Given the description of an element on the screen output the (x, y) to click on. 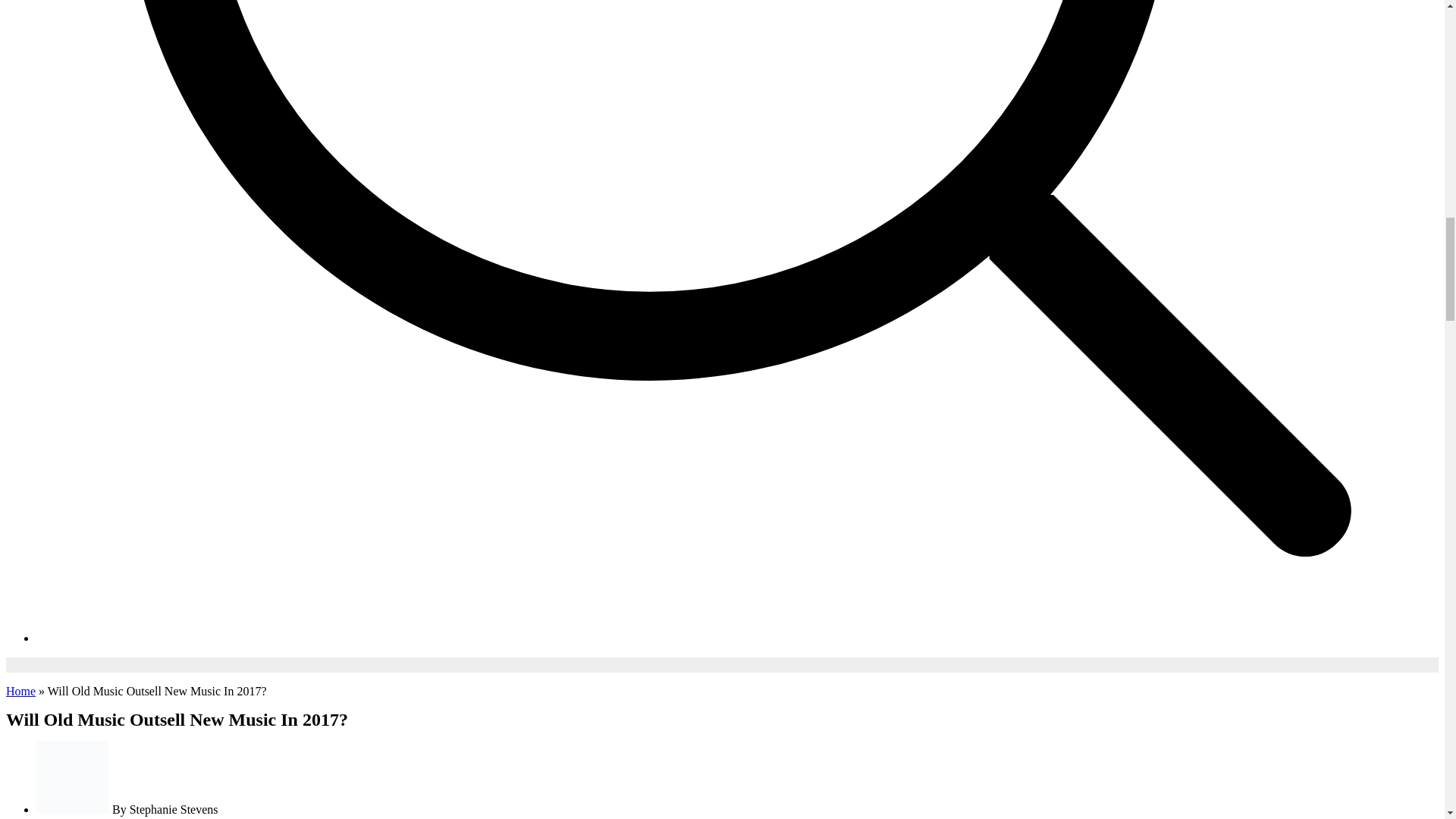
Home (19, 690)
